Given the description of an element on the screen output the (x, y) to click on. 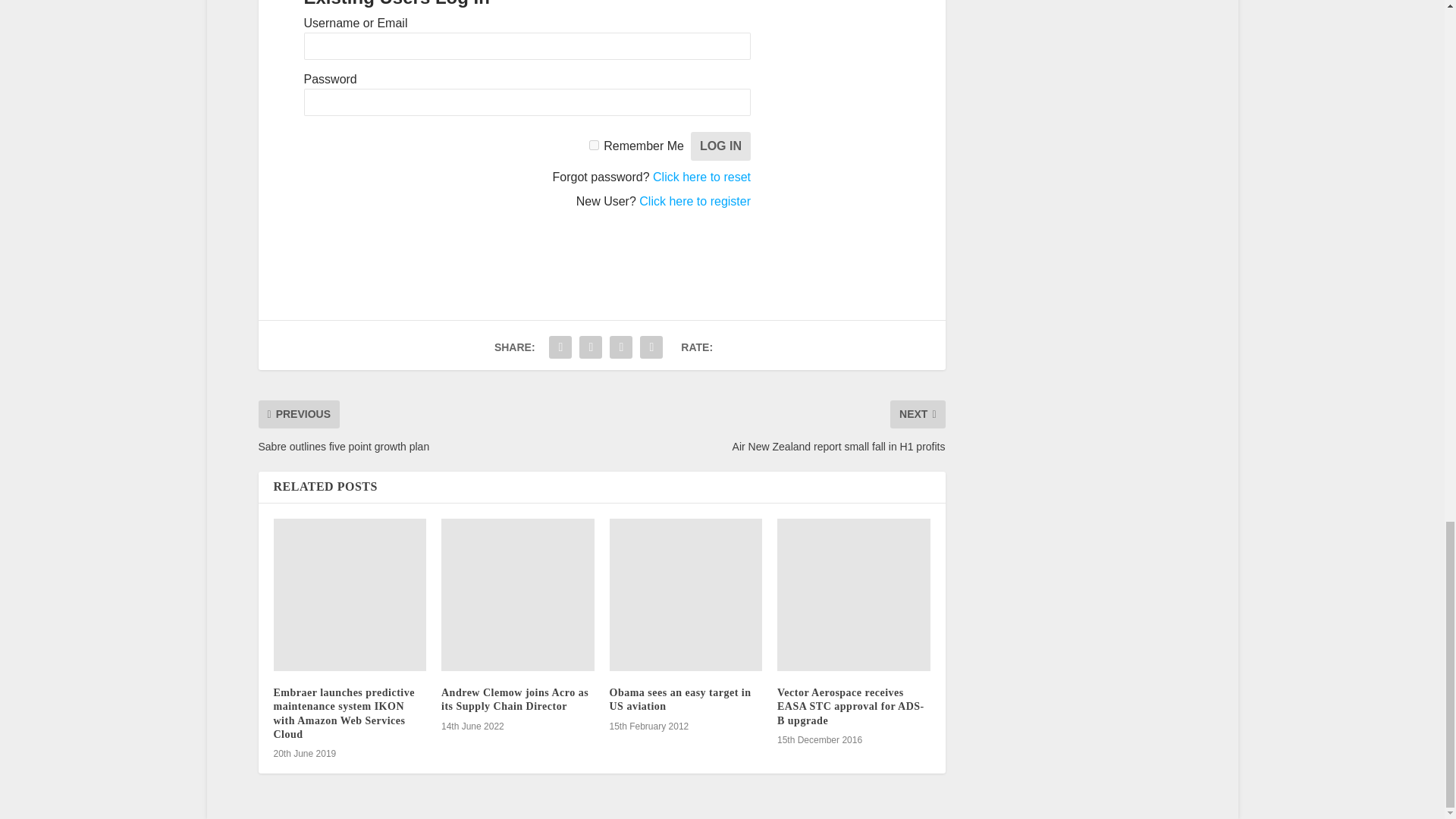
Andrew Clemow joins Acro as its Supply Chain Director (517, 594)
Log In (720, 145)
forever (593, 144)
Obama sees an easy target in US aviation (686, 594)
